Given the description of an element on the screen output the (x, y) to click on. 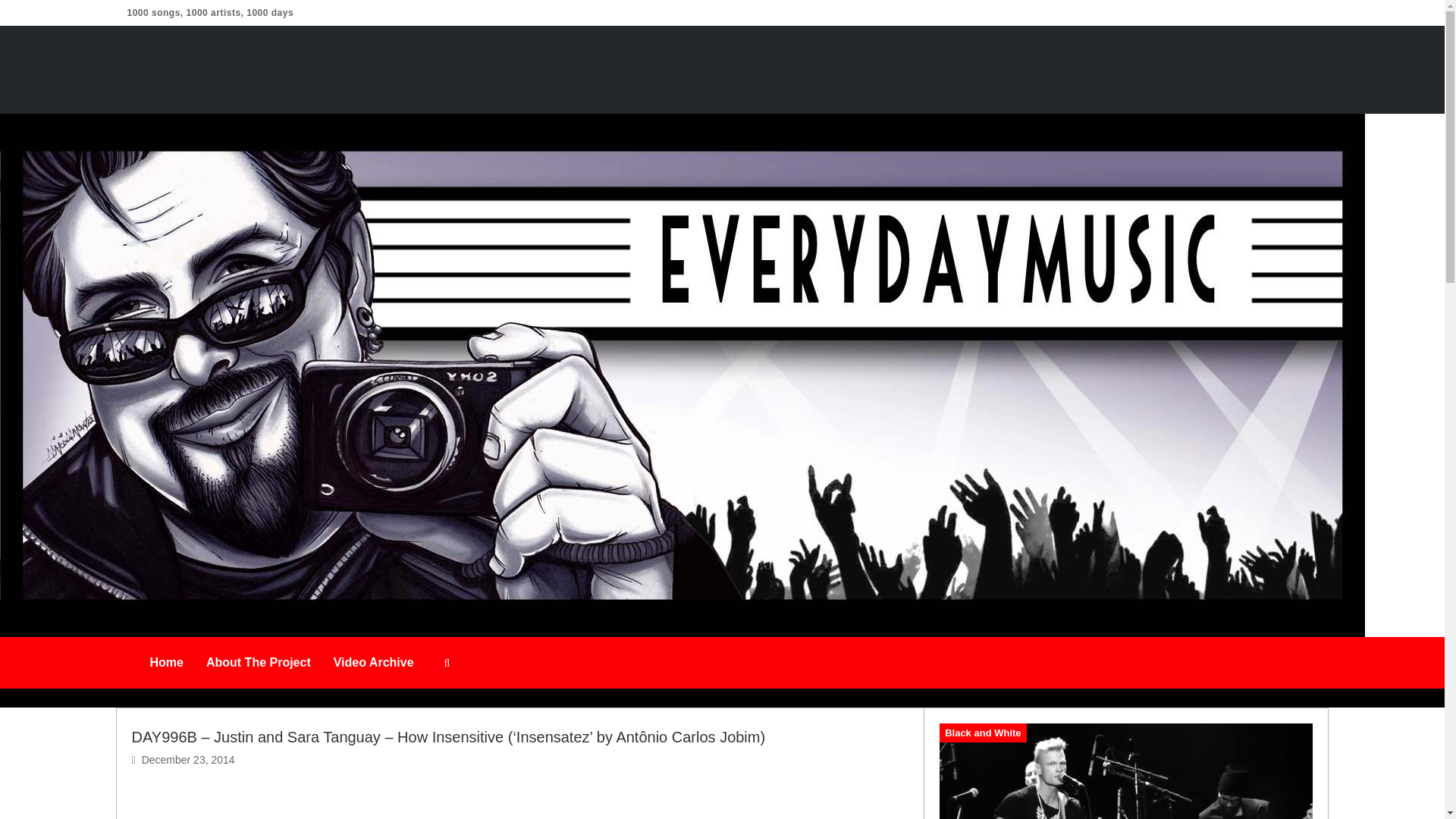
Video Archive (373, 662)
About The Project (258, 662)
Home (165, 662)
